Given the description of an element on the screen output the (x, y) to click on. 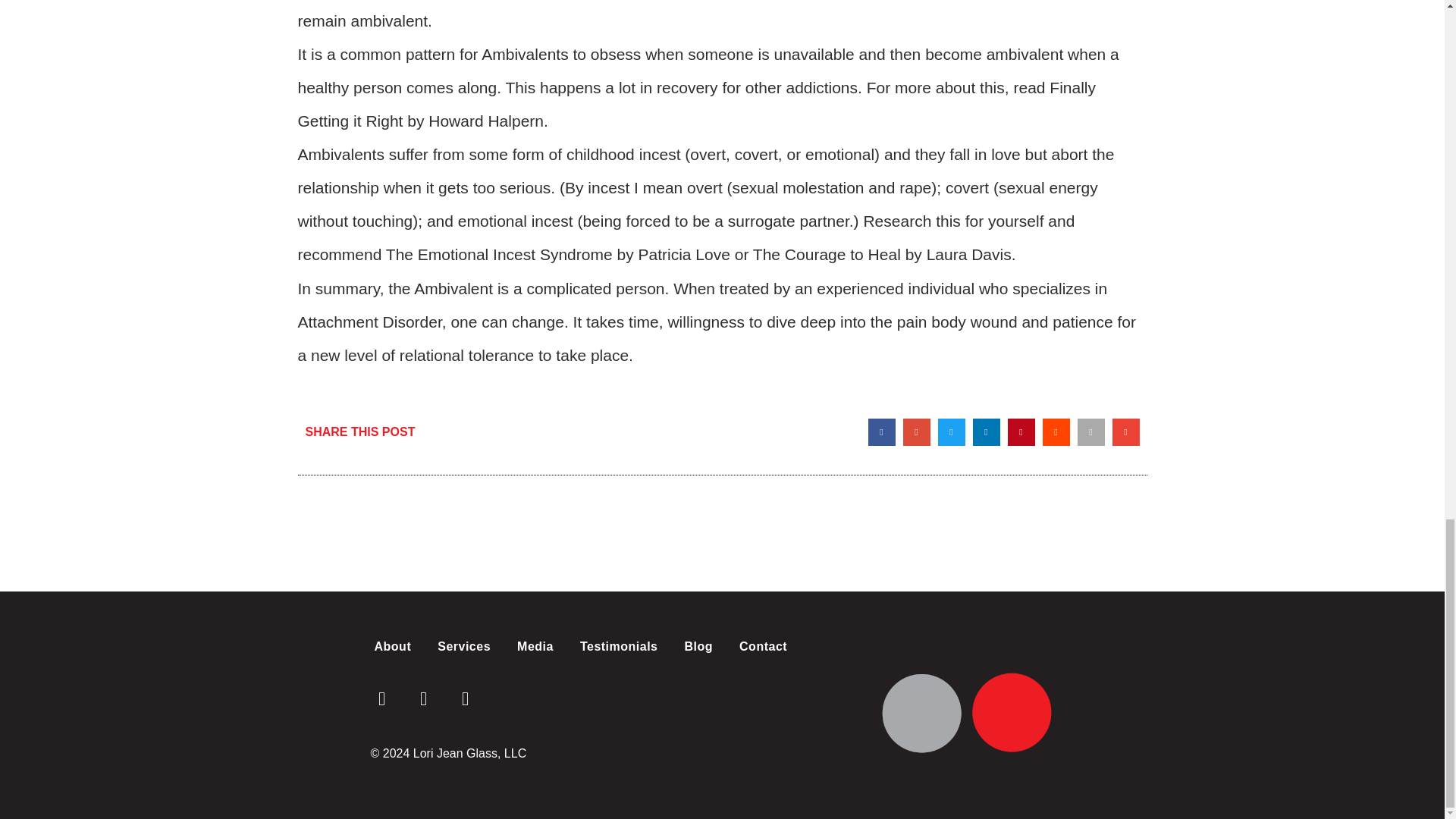
Blog (698, 646)
Services (464, 646)
About (392, 646)
Media (534, 646)
Testimonials (619, 646)
Contact (762, 646)
